Given the description of an element on the screen output the (x, y) to click on. 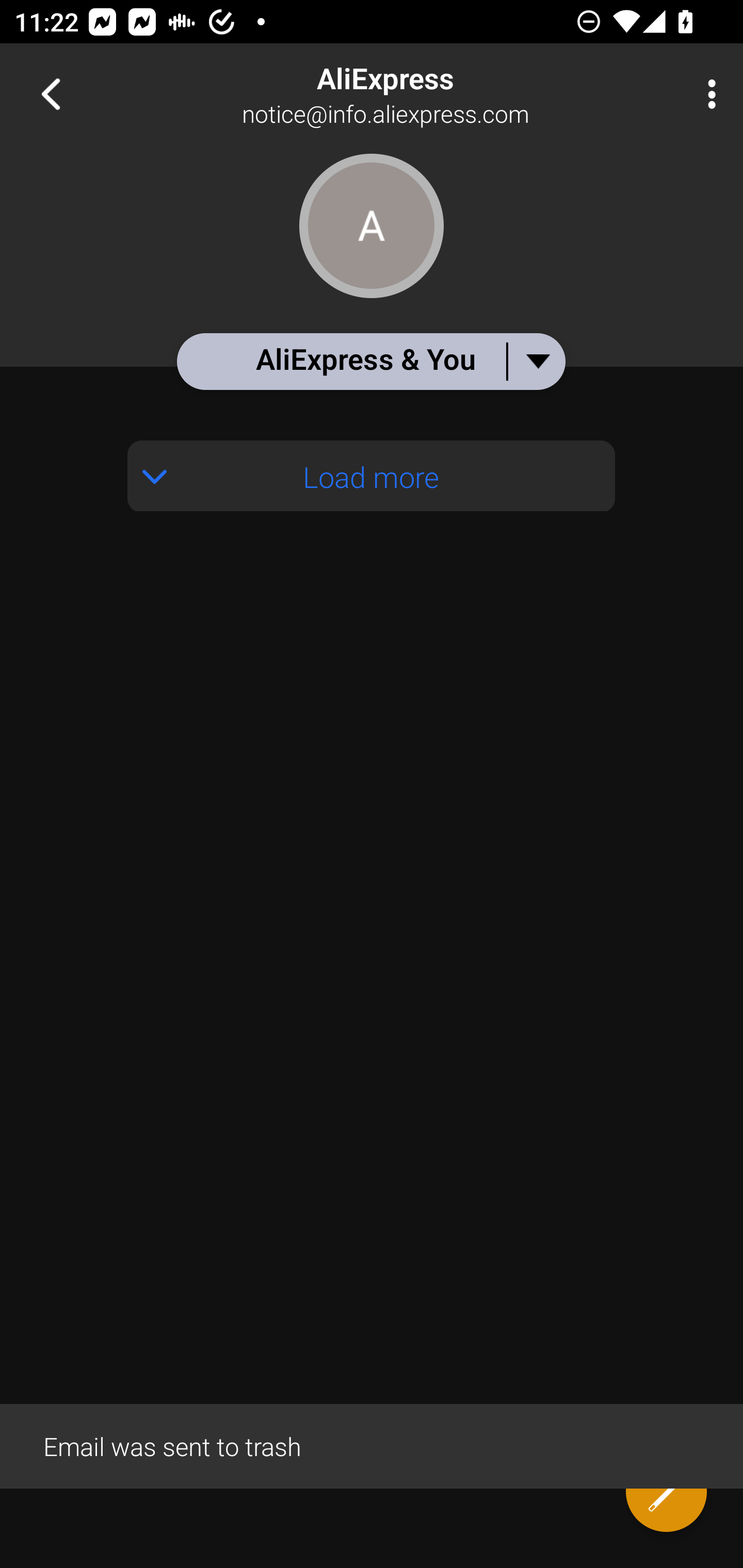
Navigate up (50, 93)
AliExpress notice@info.aliexpress.com (436, 93)
More Options (706, 93)
AliExpress & You (370, 361)
Load more (371, 475)
Email was sent to trash (371, 1445)
